Given the description of an element on the screen output the (x, y) to click on. 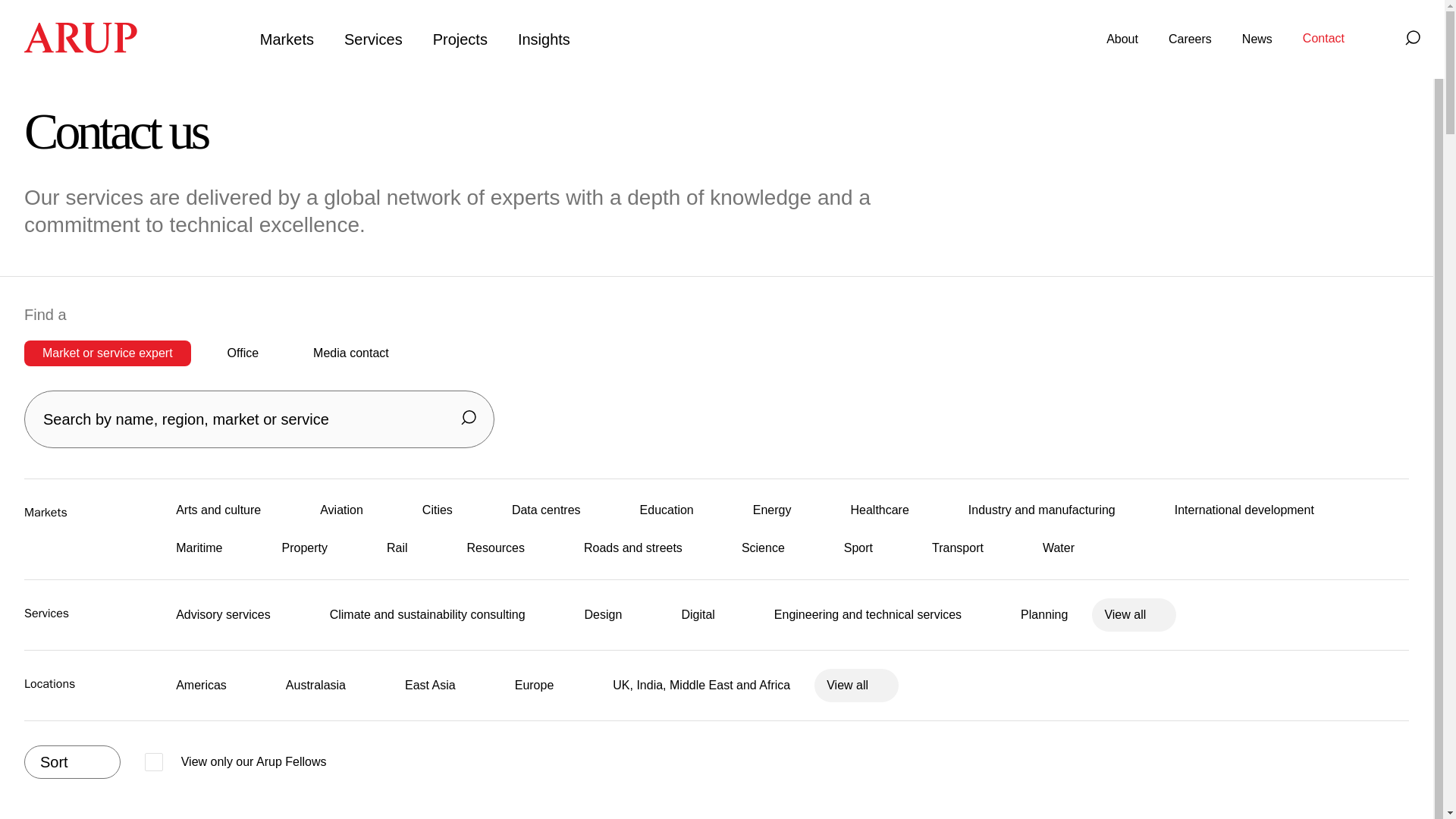
Contact (1323, 39)
Healthcare (867, 510)
Office (243, 353)
Aviation (330, 510)
About (1122, 39)
on (235, 761)
Arts and culture (207, 510)
Media contact (351, 353)
Careers (1190, 39)
Cities (425, 510)
